Given the description of an element on the screen output the (x, y) to click on. 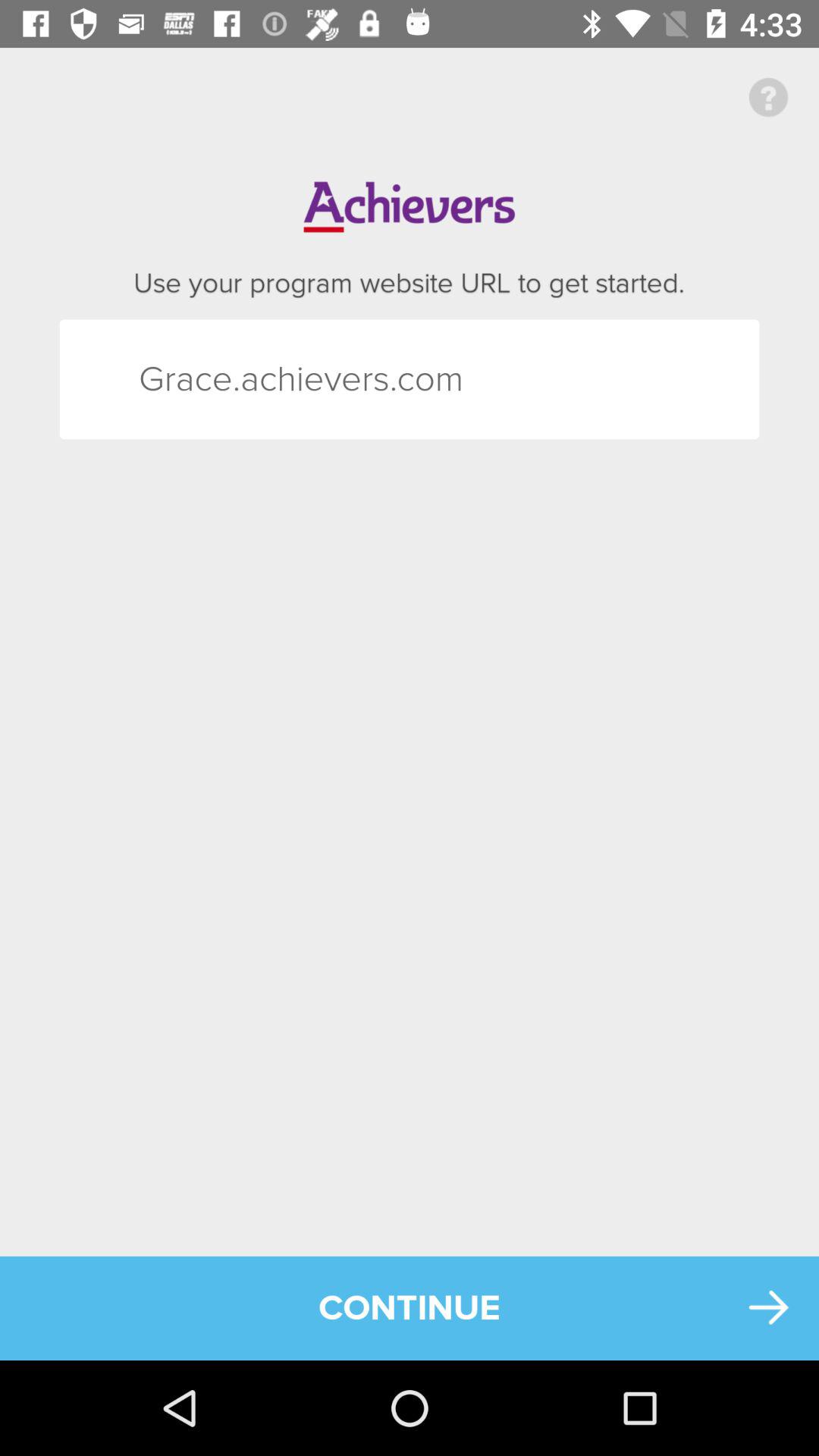
select the continue icon (409, 1308)
